Given the description of an element on the screen output the (x, y) to click on. 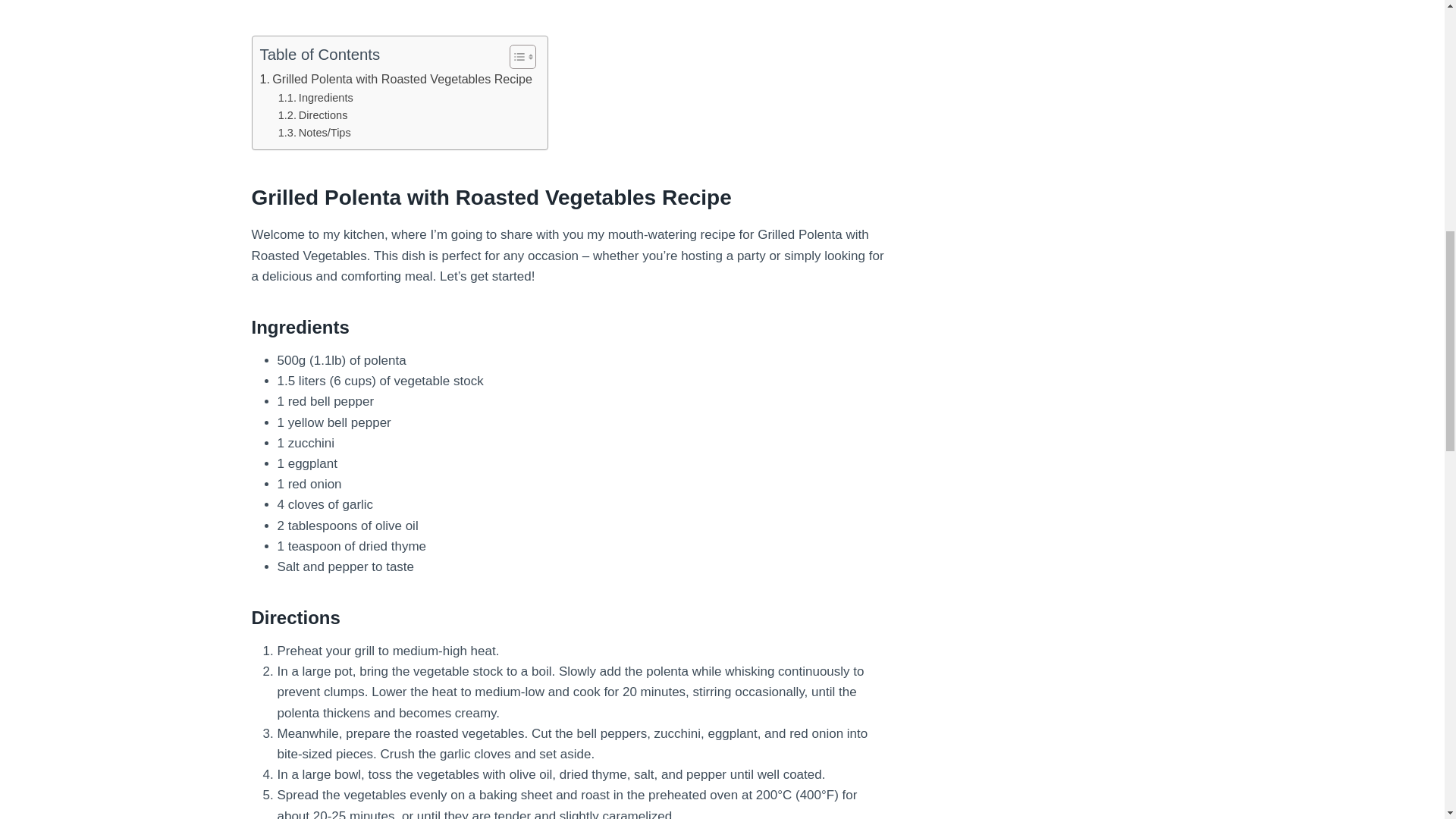
Ingredients (315, 98)
Grilled Polenta with Roasted Vegetables Recipe (395, 79)
Ingredients (315, 98)
Directions (312, 115)
Grilled Polenta with Roasted Vegetables Recipe (395, 79)
Directions (312, 115)
